Given the description of an element on the screen output the (x, y) to click on. 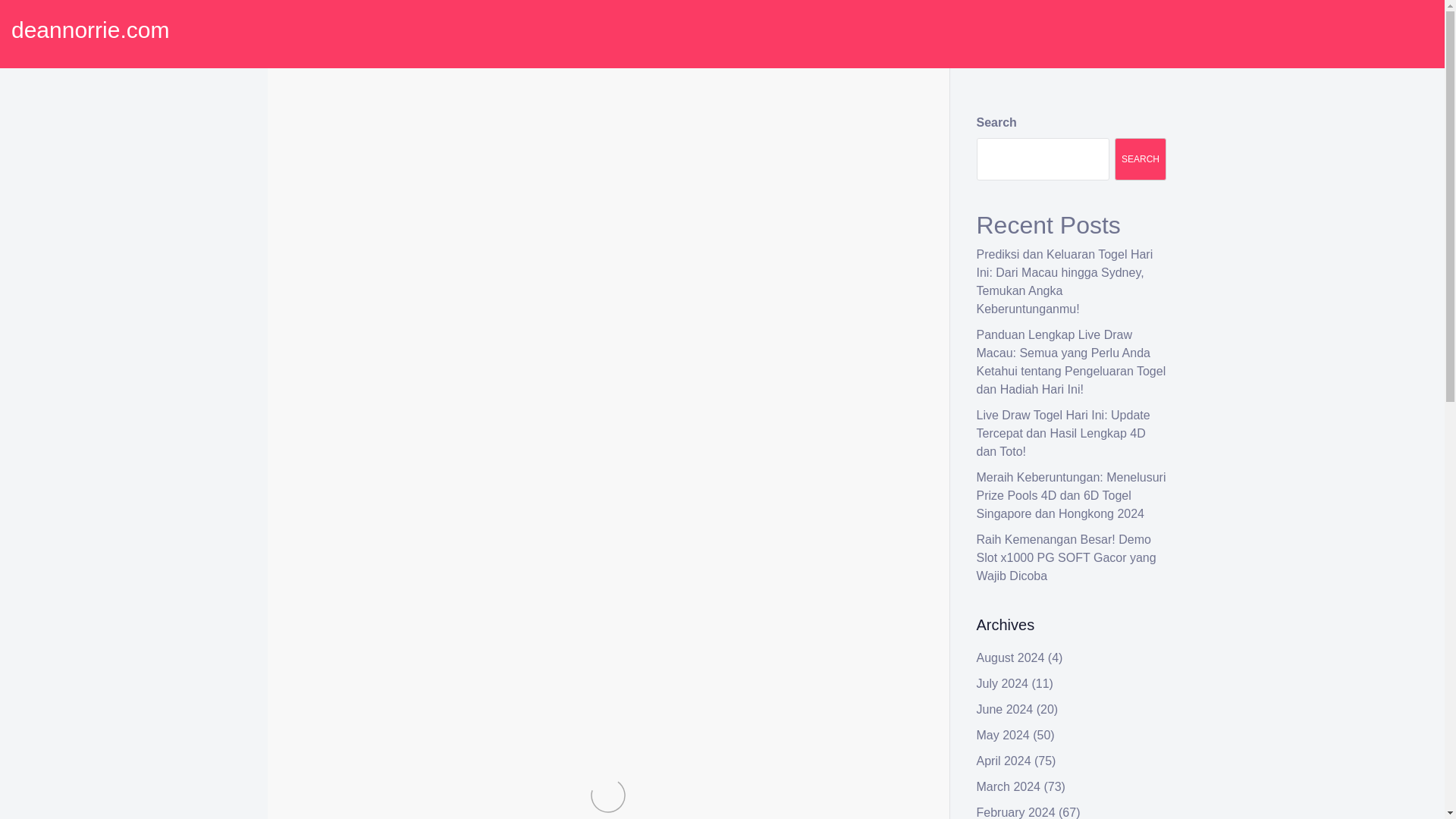
August 2024 (1010, 657)
SEARCH (1140, 159)
May 2024 (1002, 735)
February 2024 (1015, 812)
admin (421, 143)
June 2024 (1004, 708)
March 2024 (1008, 786)
